Given the description of an element on the screen output the (x, y) to click on. 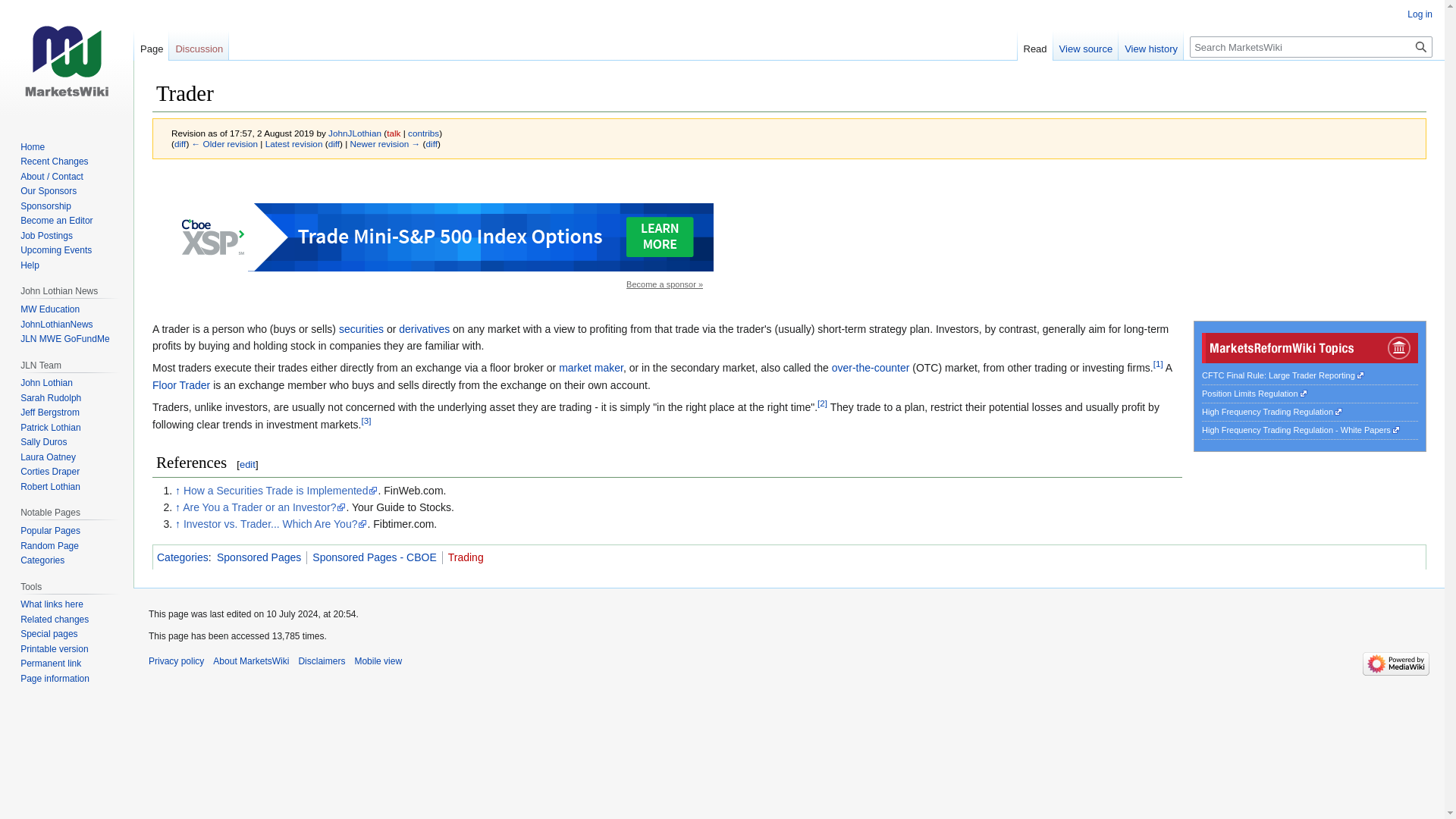
Go (1420, 46)
Over-the-counter (870, 367)
JohnJLothian (355, 132)
Position Limits Regulation (1254, 393)
contribs (423, 132)
Derivatives (423, 328)
Trader (432, 143)
Sponsorship Opportunities (664, 284)
Go (1420, 46)
Trader (293, 143)
derivatives (423, 328)
market maker (591, 367)
Categories (182, 557)
Trader (180, 143)
Search (1420, 46)
